Given the description of an element on the screen output the (x, y) to click on. 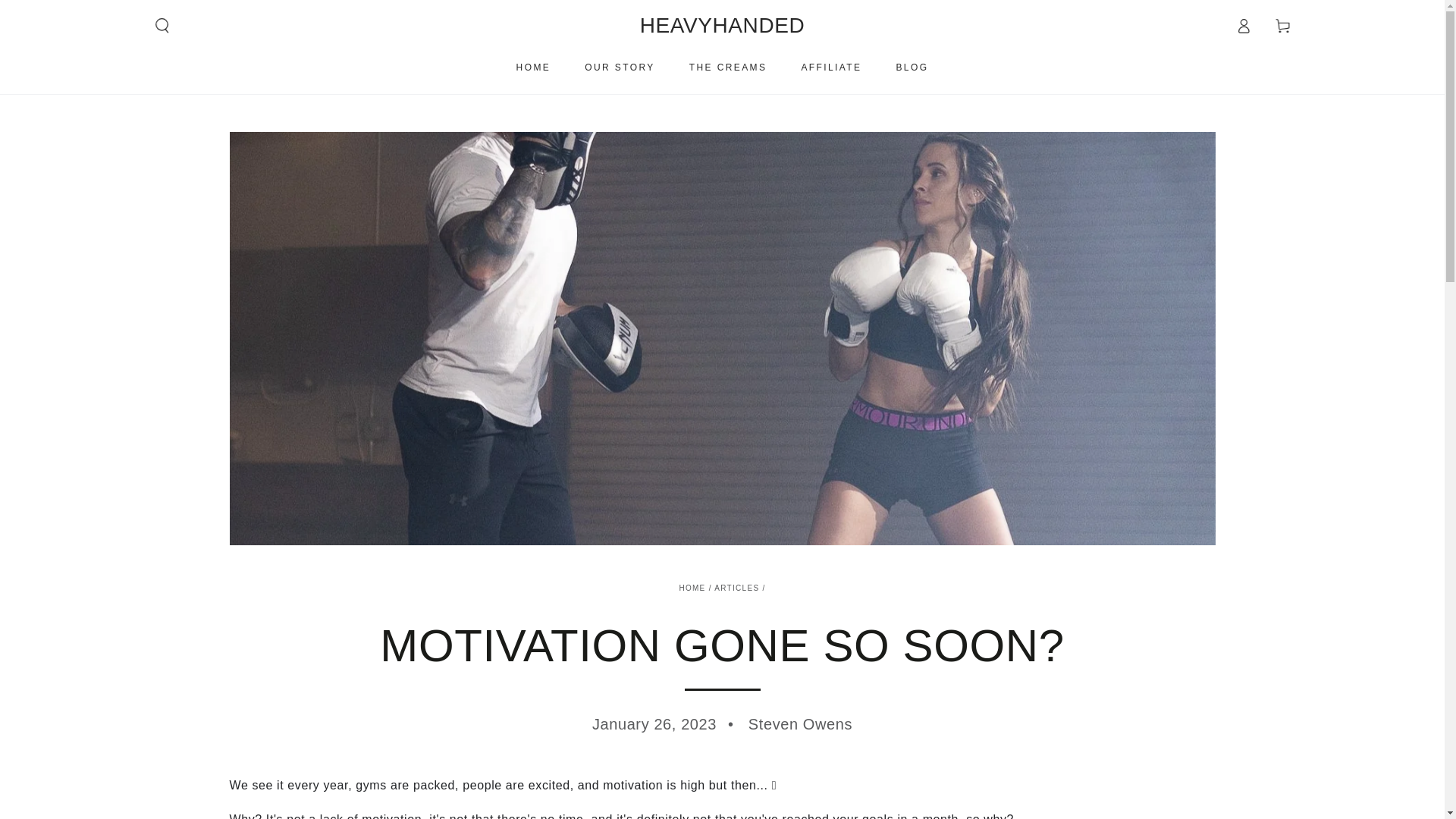
HOME (533, 67)
AFFILIATE (830, 67)
SKIP TO CONTENT (67, 14)
HOME (691, 587)
Back to the frontpage (691, 587)
HEAVYHANDED (722, 25)
THE CREAMS (728, 67)
ARTICLES (736, 587)
BLOG (911, 67)
OUR STORY (619, 67)
